Given the description of an element on the screen output the (x, y) to click on. 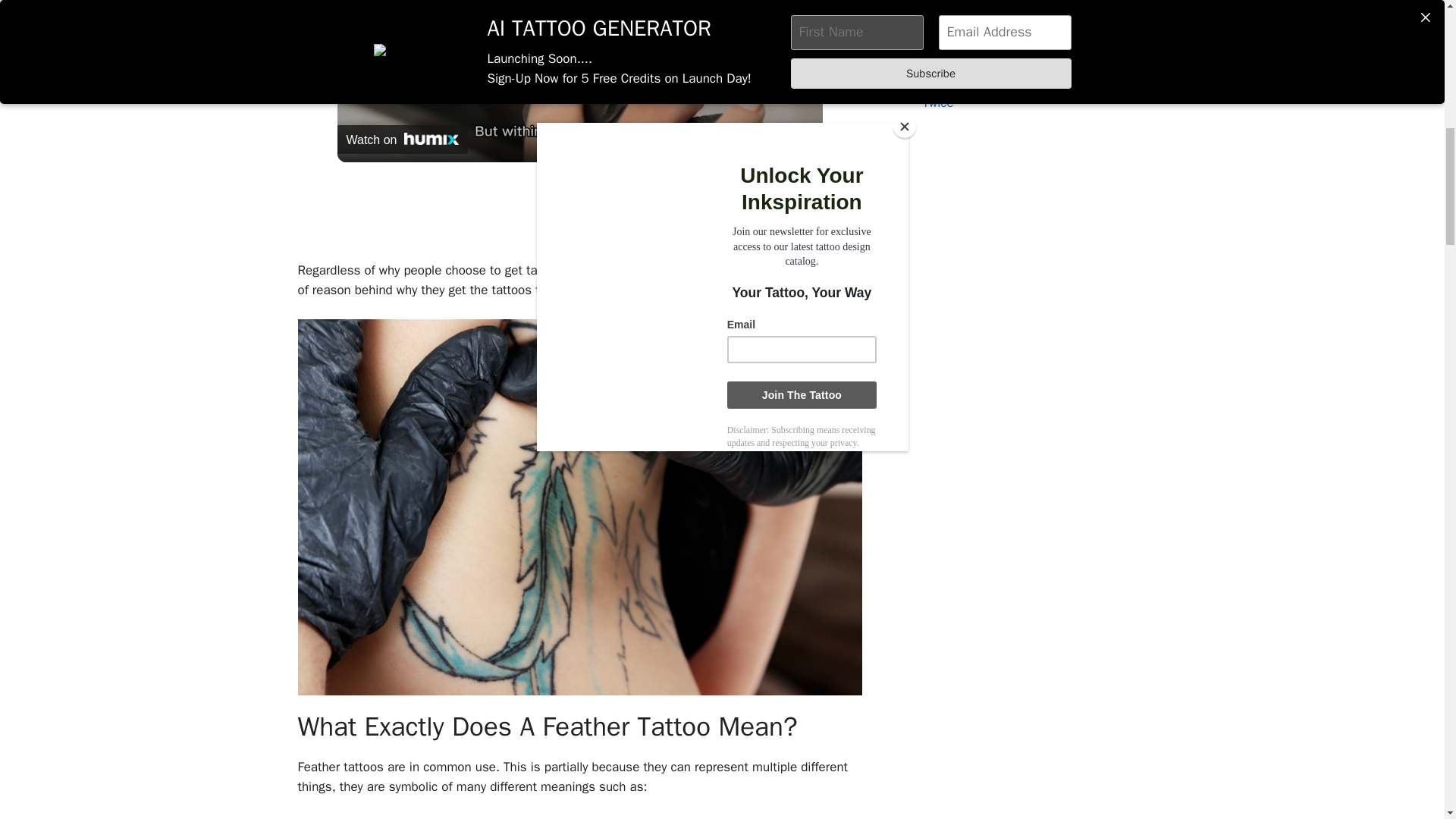
Play Video (579, 25)
